Given the description of an element on the screen output the (x, y) to click on. 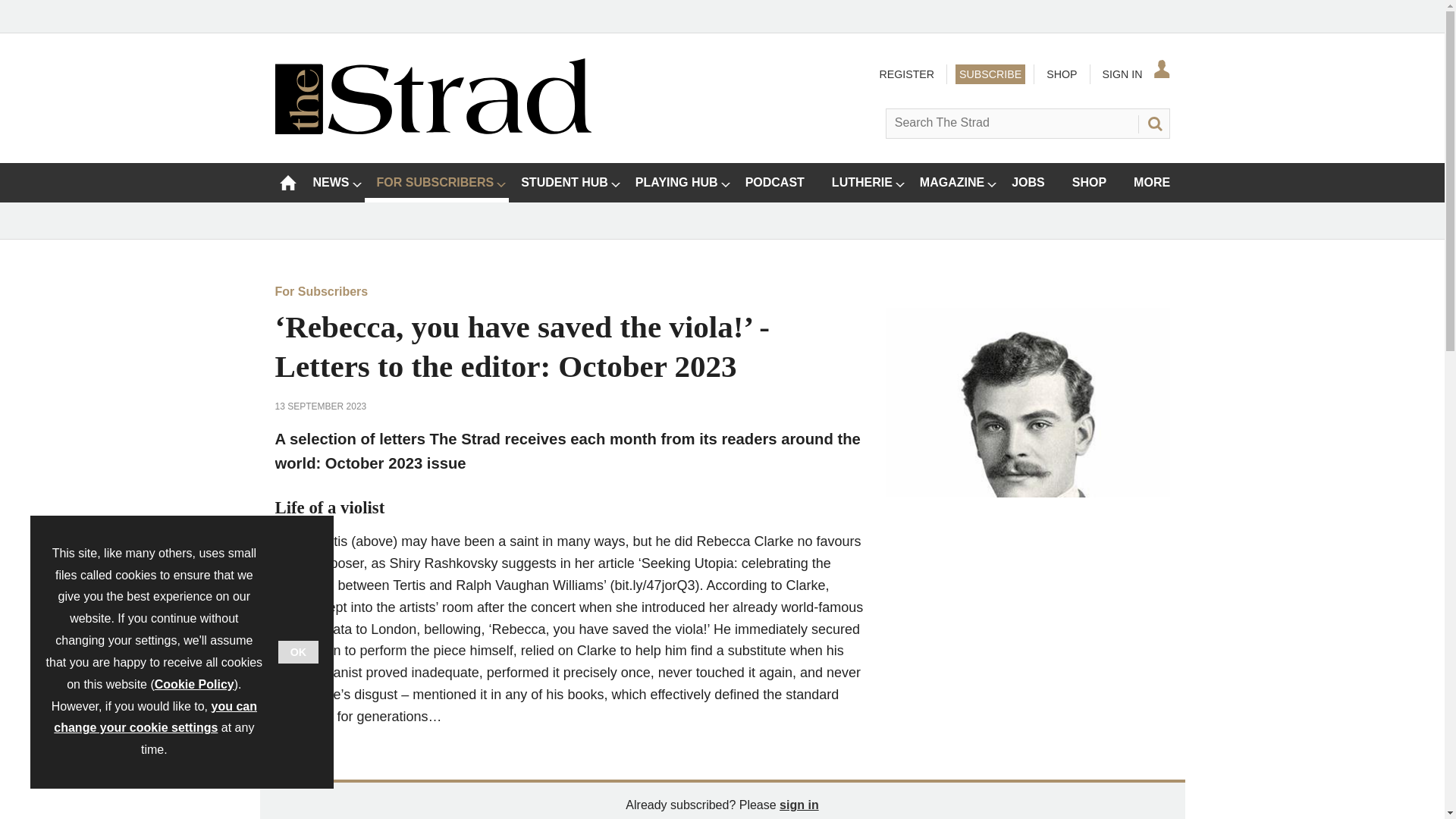
Cookie Policy (194, 684)
OK (298, 651)
SEARCH (1153, 123)
SUBSCRIBE (990, 74)
REGISTER (906, 74)
SHOP (1061, 74)
you can change your cookie settings (155, 717)
SIGN IN (1134, 74)
Insert Logo text (433, 129)
